Given the description of an element on the screen output the (x, y) to click on. 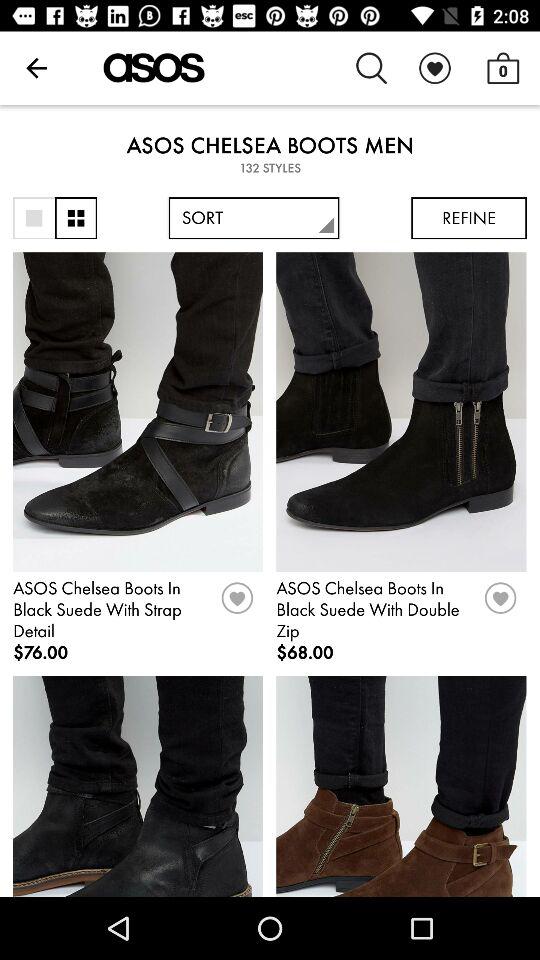
change view (76, 218)
